Given the description of an element on the screen output the (x, y) to click on. 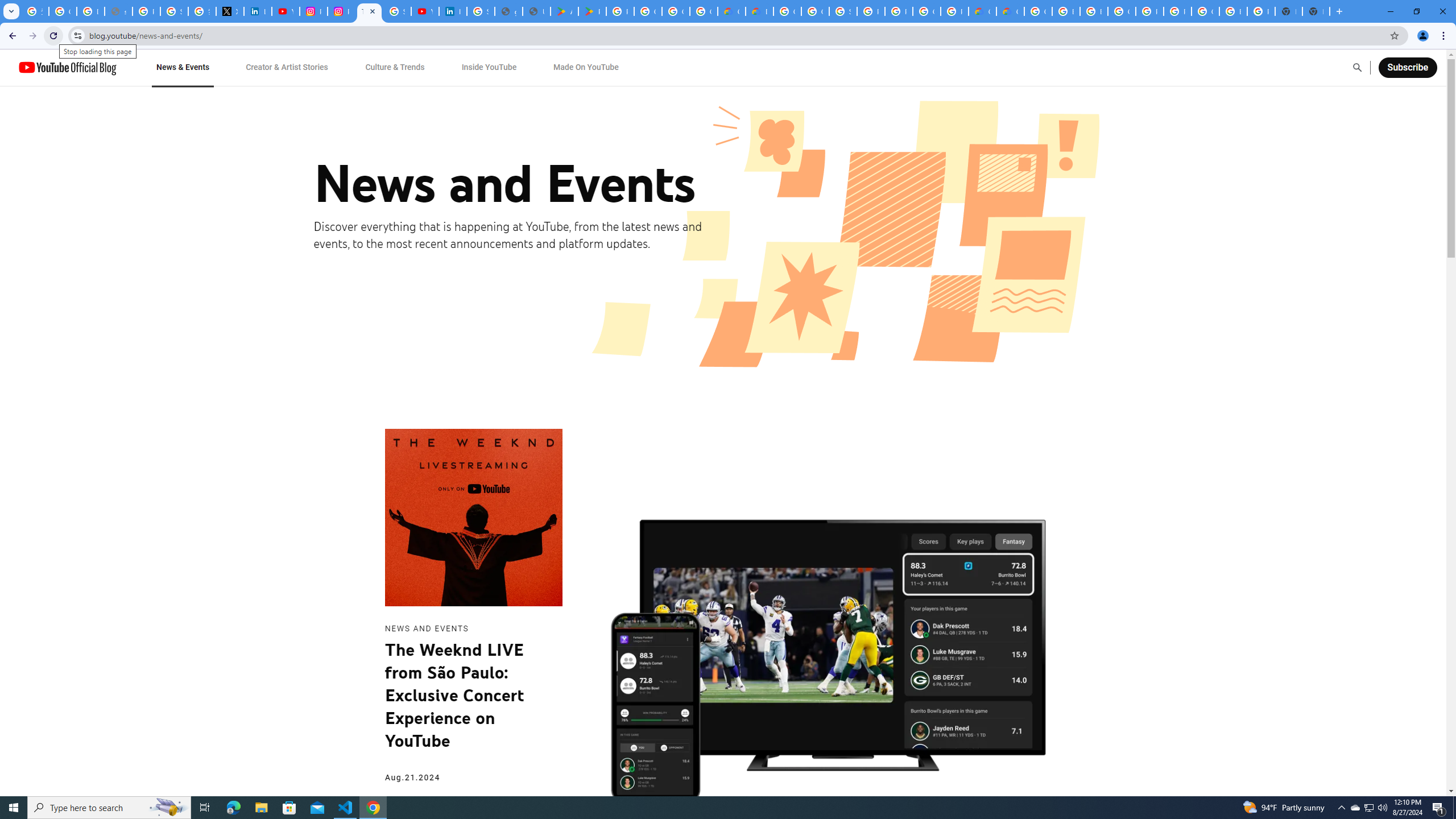
Privacy Help Center - Policies Help (146, 11)
Culture & Trends (395, 67)
YouTube Official Blog logo (67, 67)
Google Cloud Platform (926, 11)
Android Apps on Google Play (564, 11)
